Given the description of an element on the screen output the (x, y) to click on. 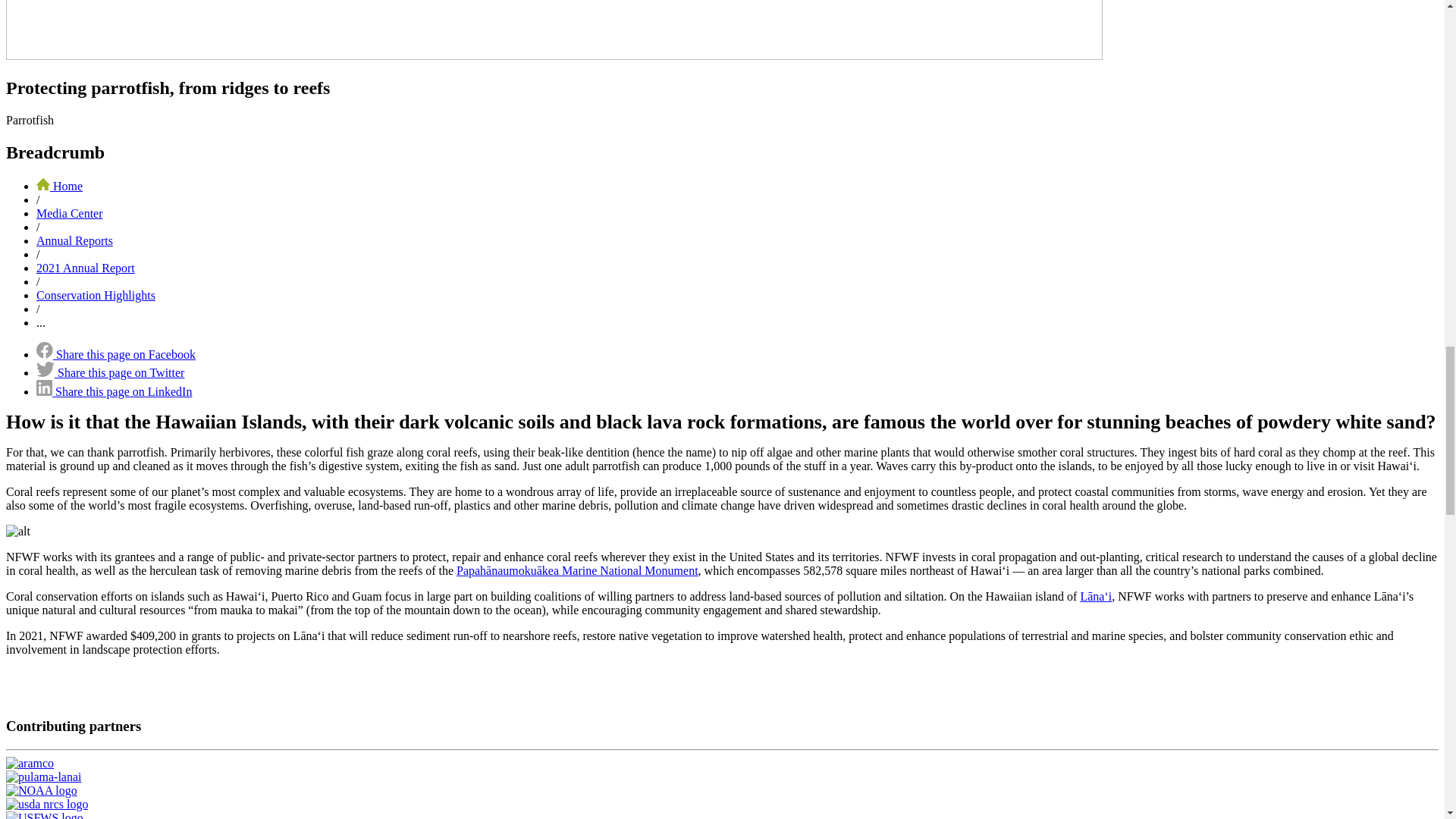
Conservation Highlights (95, 295)
Annual Reports (74, 240)
Home (59, 185)
Media Center (69, 213)
2021 Annual Report (85, 267)
